Given the description of an element on the screen output the (x, y) to click on. 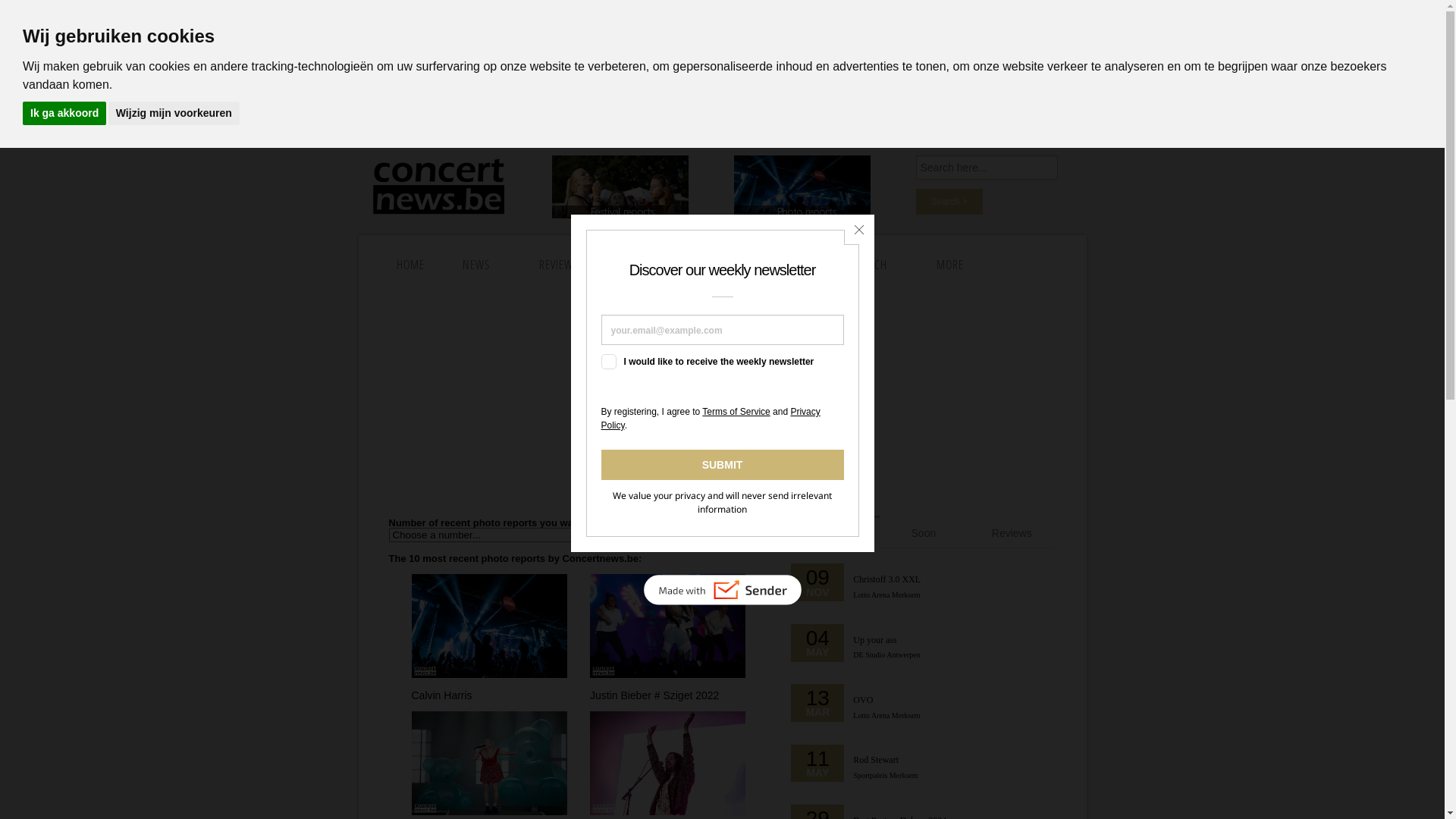
Christoff 3.0 XXL Element type: text (886, 579)
Reviews Element type: text (1011, 532)
SEARCH Element type: text (650, 264)
Lotto Arena Merksem Element type: text (886, 594)
Advertisement Element type: hover (721, 400)
Sportpaleis Merksem Element type: text (885, 775)
Calvin Harris  Element type: text (442, 695)
Lotto Arena Merksem Element type: text (886, 715)
Soon Element type: text (923, 532)
Up your ass Element type: text (874, 639)
Wijzig mijn voorkeuren Element type: text (173, 113)
OVO Element type: text (862, 699)
STAY IN TOUCH Element type: text (858, 264)
HOME Element type: text (410, 264)
Justin Bieber # Sziget 2022 Element type: text (653, 695)
MORE Element type: text (955, 264)
REVIEWS Element type: text (564, 264)
DE Studio Antwerpen Element type: text (886, 654)
NEWS Element type: text (480, 264)
News Element type: text (834, 532)
Rod Stewart Element type: text (875, 759)
PARTICIPATE Element type: text (746, 264)
Search > Element type: text (949, 201)
Ik ga akkoord Element type: text (64, 113)
